Given the description of an element on the screen output the (x, y) to click on. 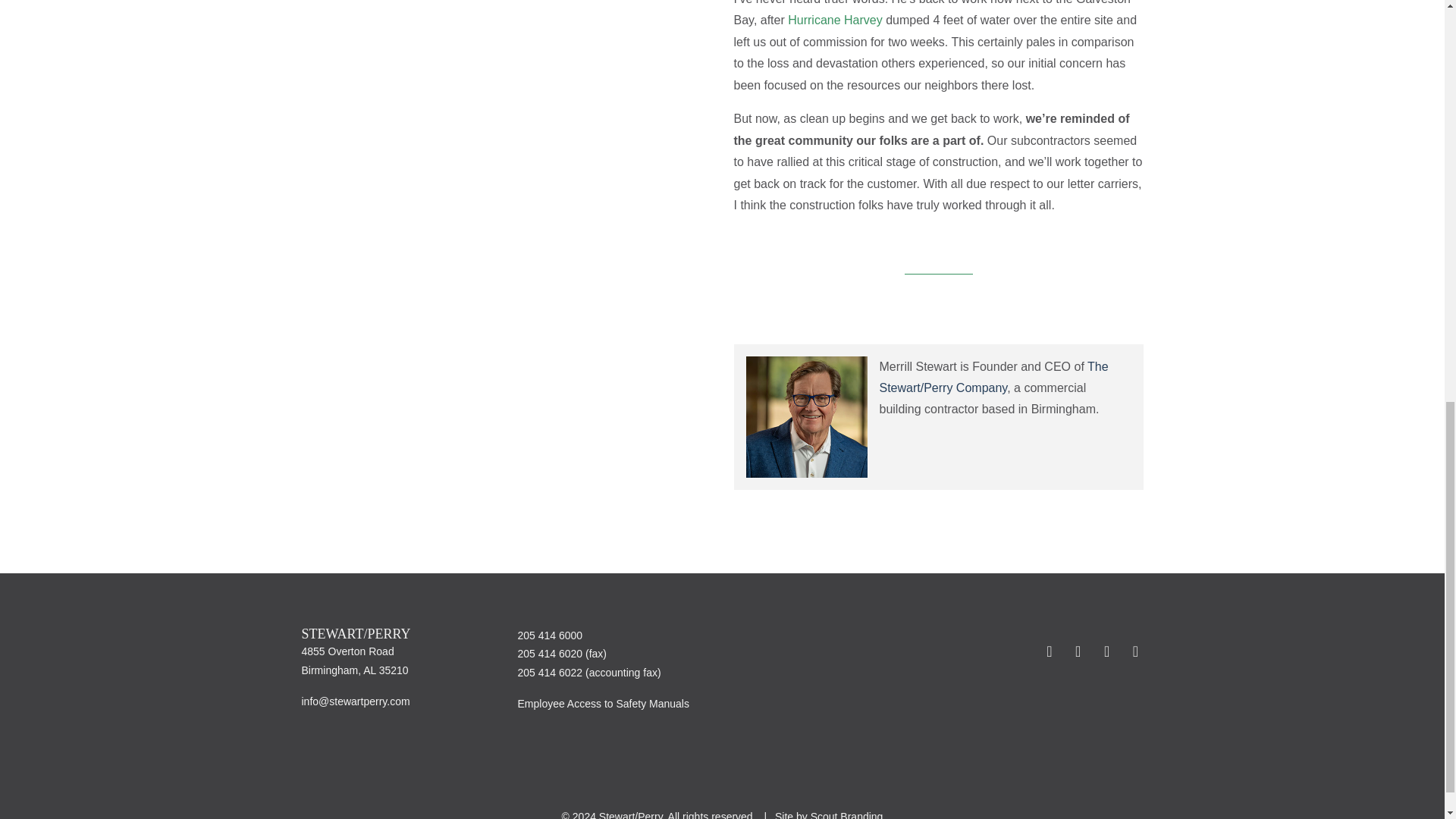
Hurricane Harvey  (836, 19)
Instagram (1132, 651)
Flickr (1049, 651)
205 414 6000 (549, 635)
Twitter (1077, 651)
Employee Access to Safety Manuals (602, 703)
Facebook (1106, 651)
Site by Scout Branding (828, 814)
